Given the description of an element on the screen output the (x, y) to click on. 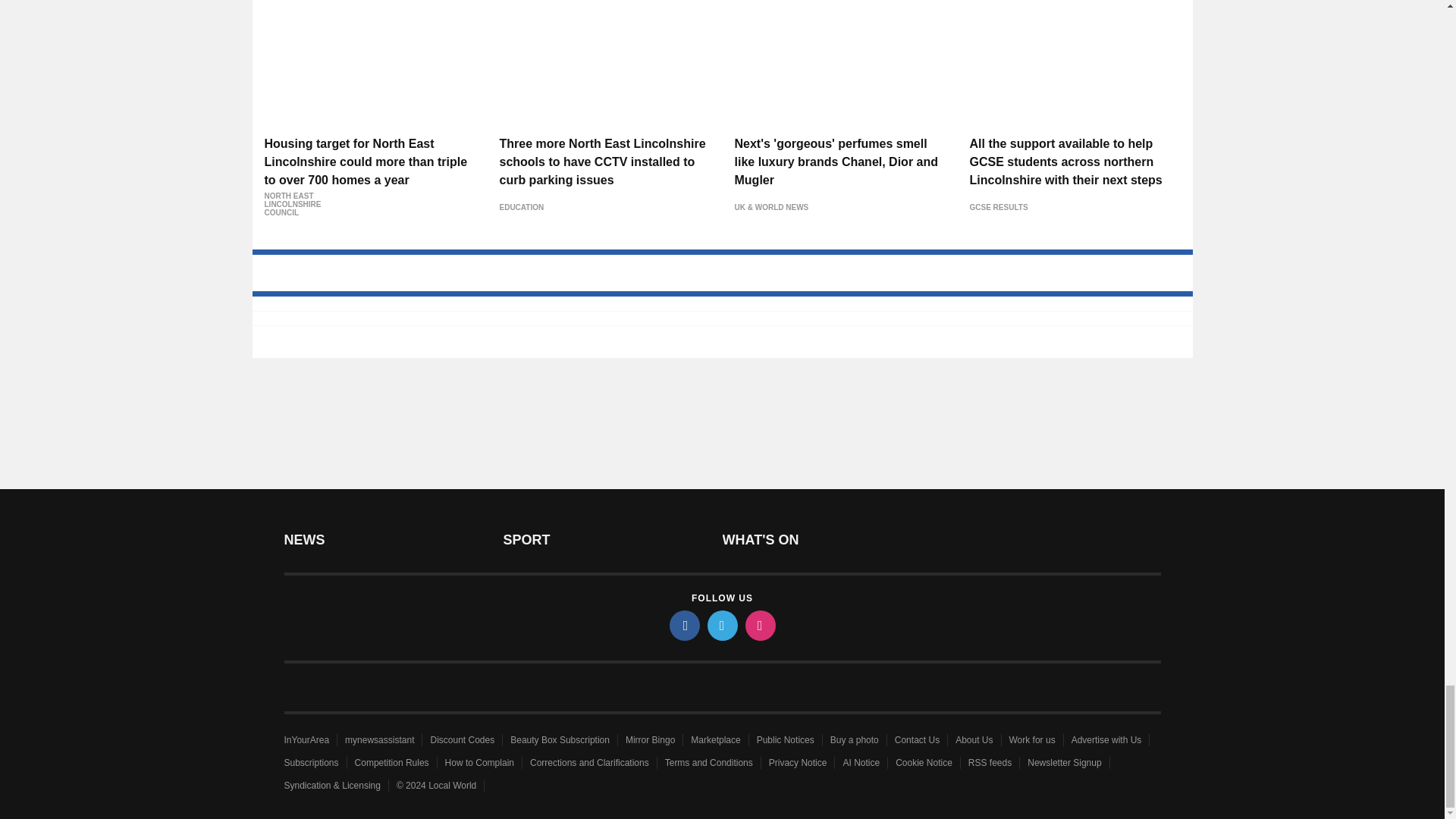
twitter (721, 625)
facebook (683, 625)
instagram (759, 625)
